Given the description of an element on the screen output the (x, y) to click on. 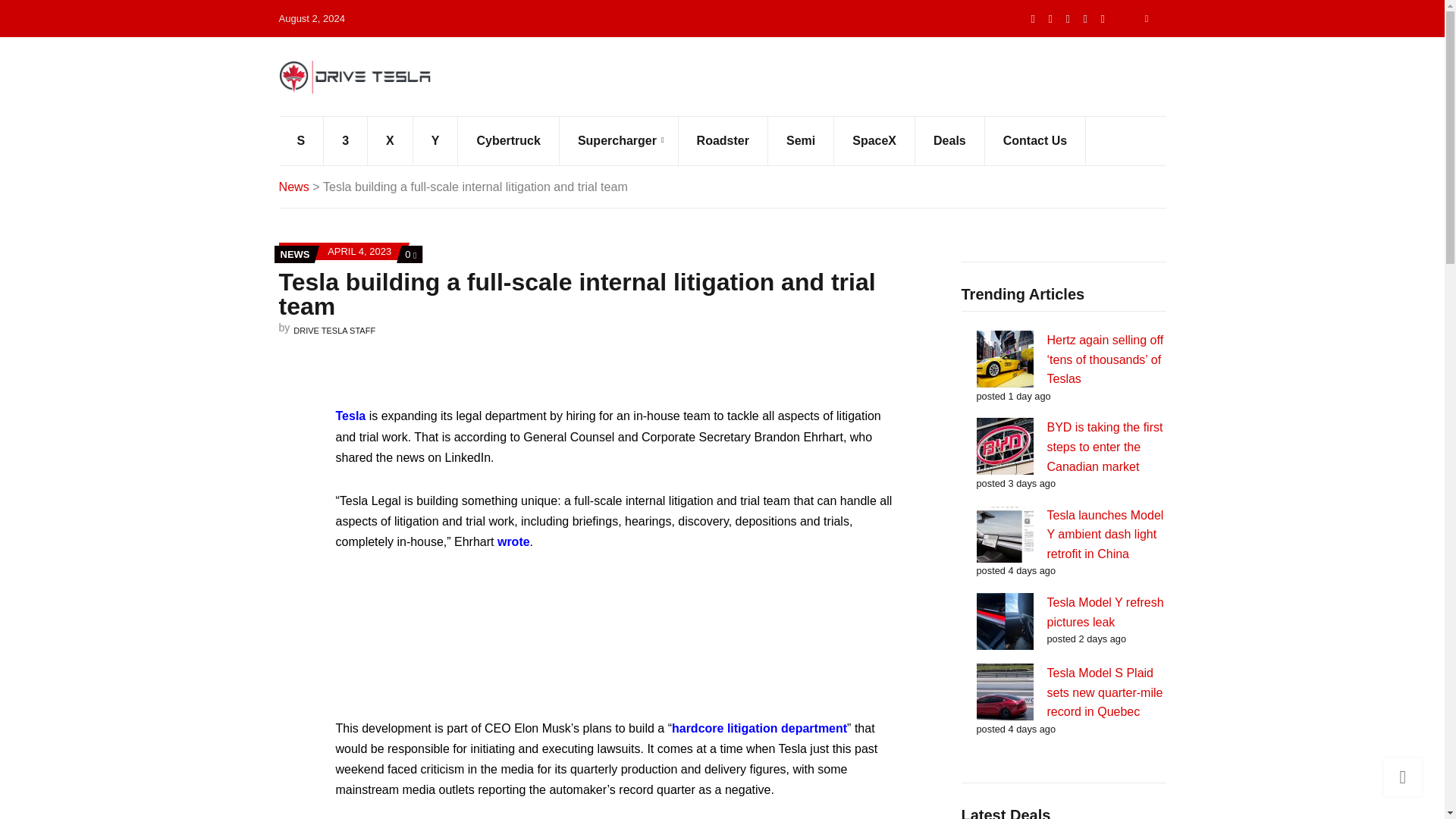
Go to the News category archives. (293, 186)
Instagram (1102, 18)
Facebook (1068, 18)
SpaceX (874, 141)
X (1051, 18)
S (301, 141)
wrote (513, 541)
Tesla (349, 415)
Roadster (723, 141)
NEWS (295, 254)
DRIVE TESLA STAFF (334, 329)
Semi (801, 141)
3 (345, 141)
News (293, 186)
